Given the description of an element on the screen output the (x, y) to click on. 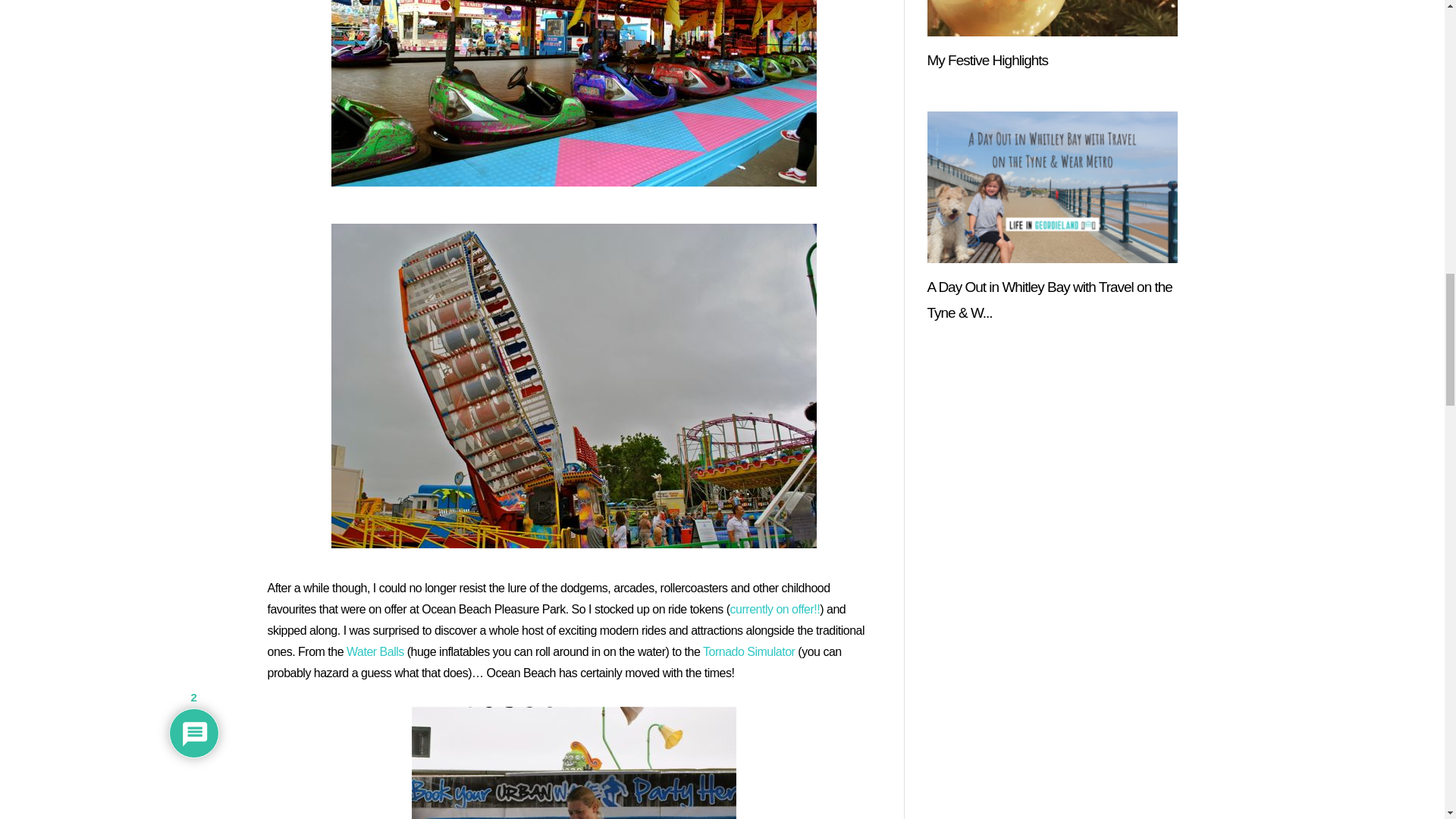
Water Balls (375, 651)
Tornado Simulator (748, 651)
currently on offer!! (775, 608)
